Given the description of an element on the screen output the (x, y) to click on. 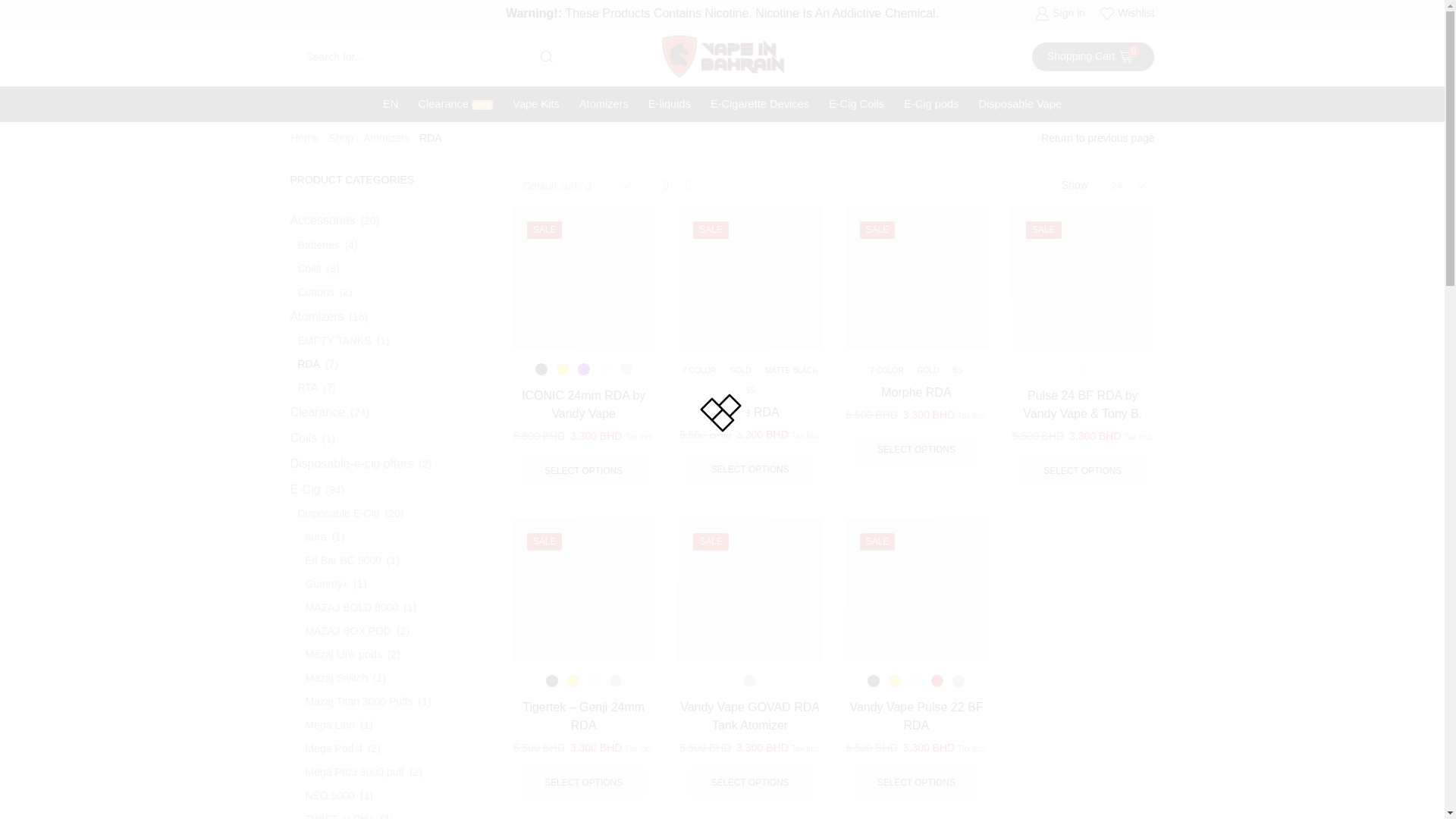
Minimum qty is 1 (583, 782)
Atomizers (604, 104)
Minimum qty is 1 (915, 449)
Minimum qty is 1 (1082, 470)
Wishlist (1127, 13)
English (389, 104)
E-Cigarette Devices (759, 104)
ClearanceSALE (454, 104)
Vape Kits (535, 104)
Log in (997, 310)
Minimum qty is 1 (1093, 56)
EN (915, 782)
E-liquids (389, 104)
Minimum qty is 1 (669, 104)
